Given the description of an element on the screen output the (x, y) to click on. 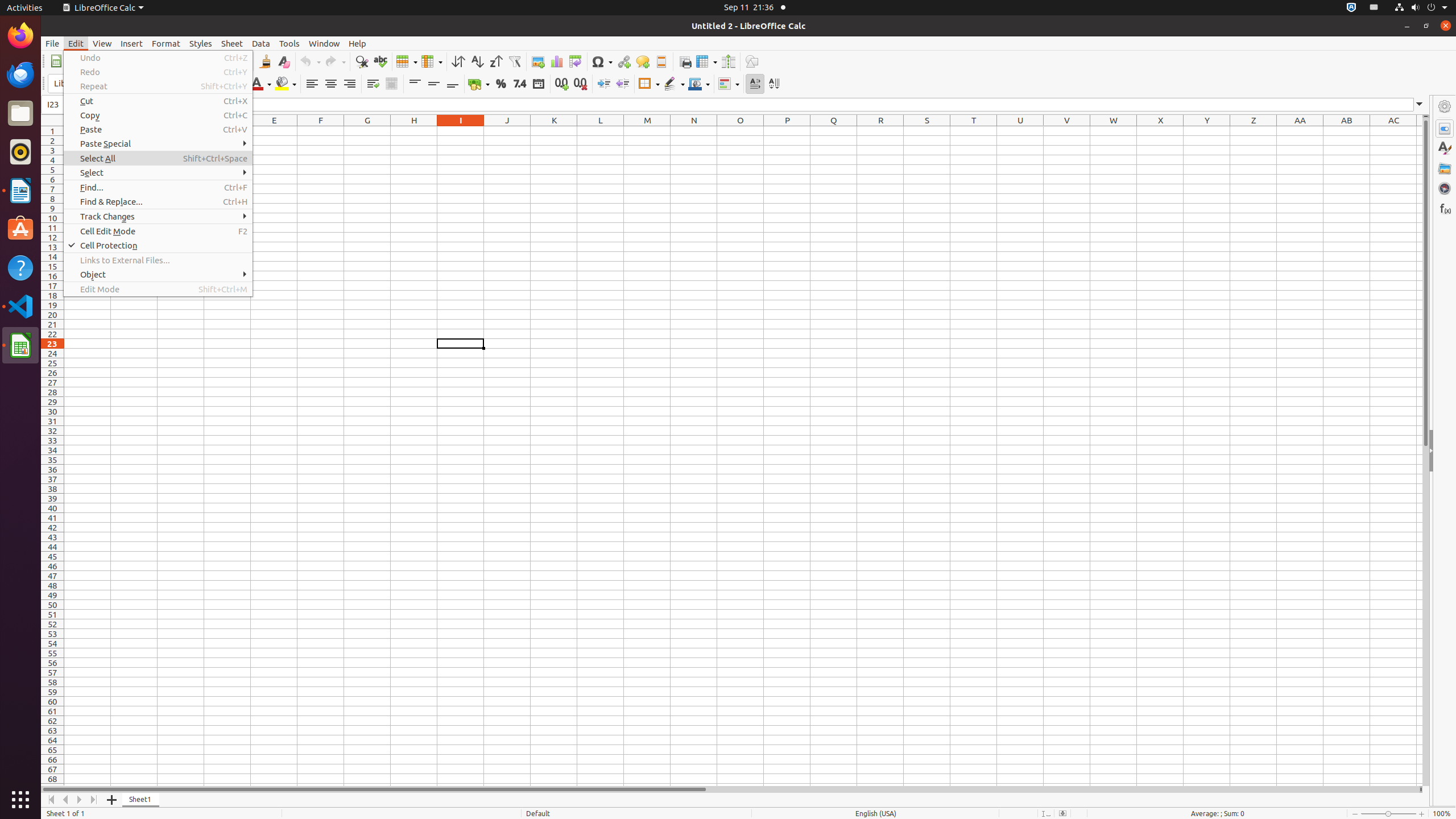
LibreOffice Calc Element type: menu (102, 7)
Tools Element type: menu (289, 43)
Pivot Table Element type: push-button (574, 61)
